Given the description of an element on the screen output the (x, y) to click on. 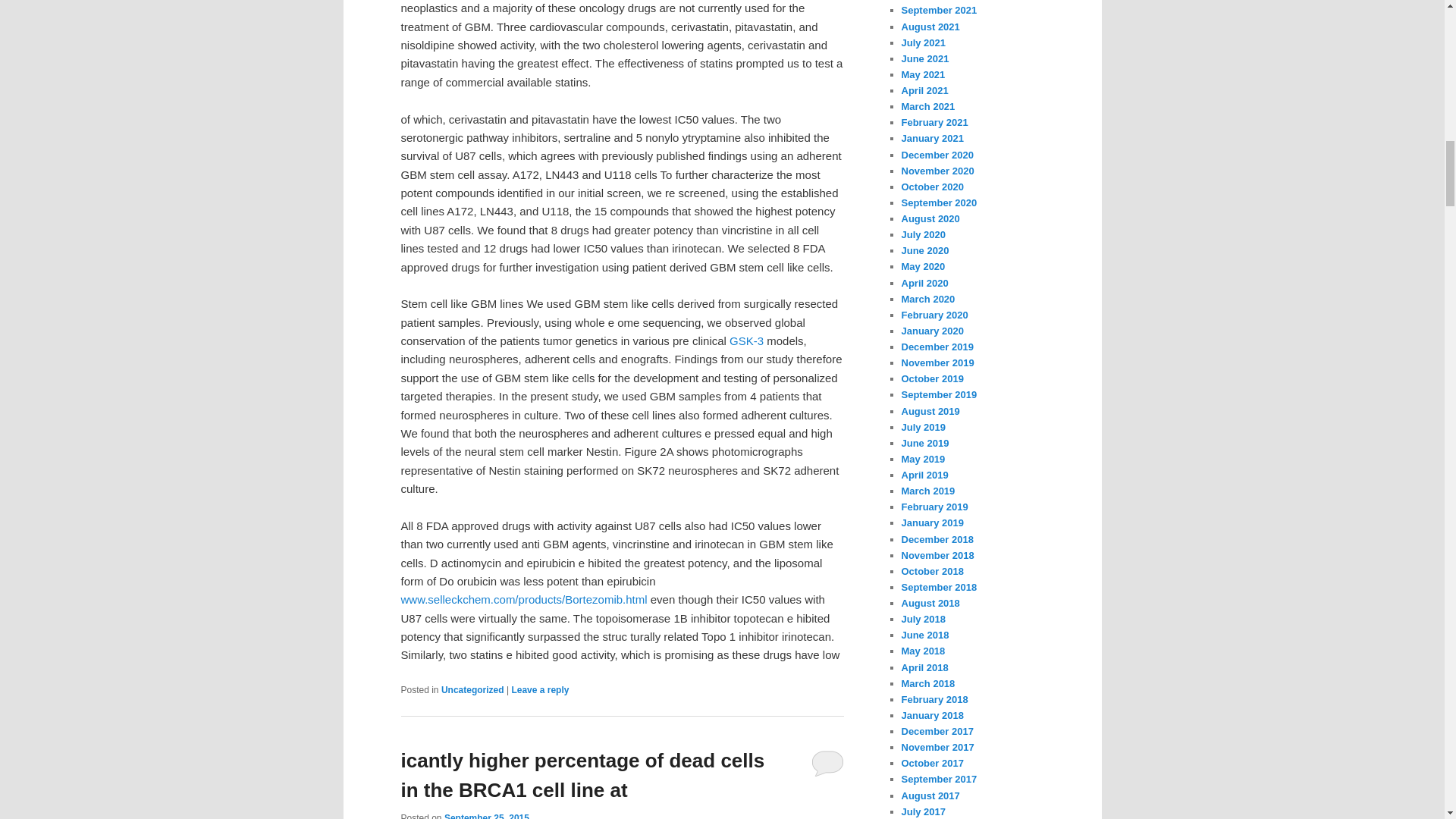
Leave a reply (540, 689)
September 25, 2015 (486, 816)
GSK-3 (745, 340)
View all posts in Uncategorized (472, 689)
Uncategorized (472, 689)
